Given the description of an element on the screen output the (x, y) to click on. 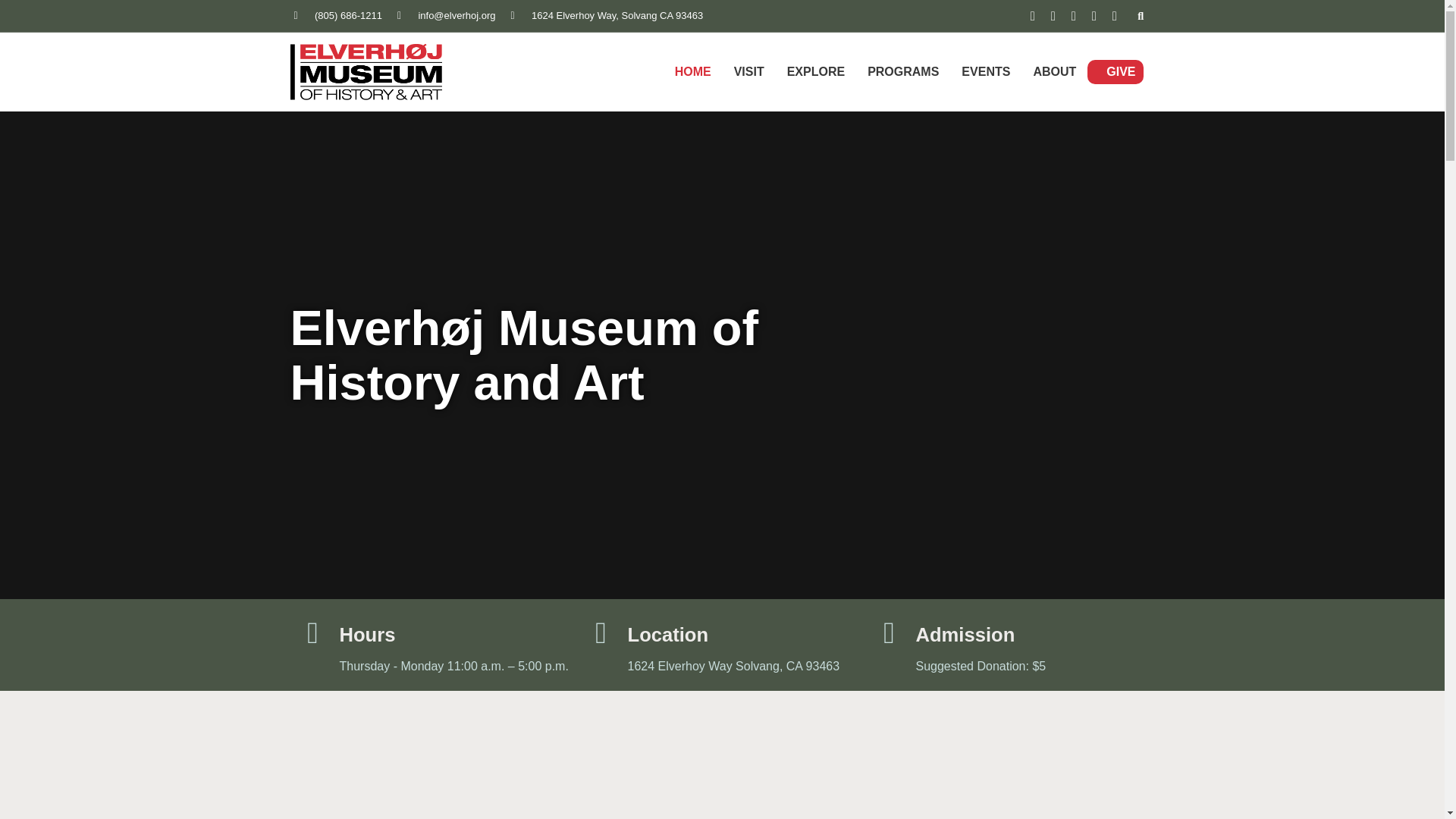
PROGRAMS (903, 71)
EVENTS (985, 71)
ABOUT (1053, 71)
HOME (693, 71)
GIVE (1120, 71)
VISIT (748, 71)
EXPLORE (815, 71)
